Given the description of an element on the screen output the (x, y) to click on. 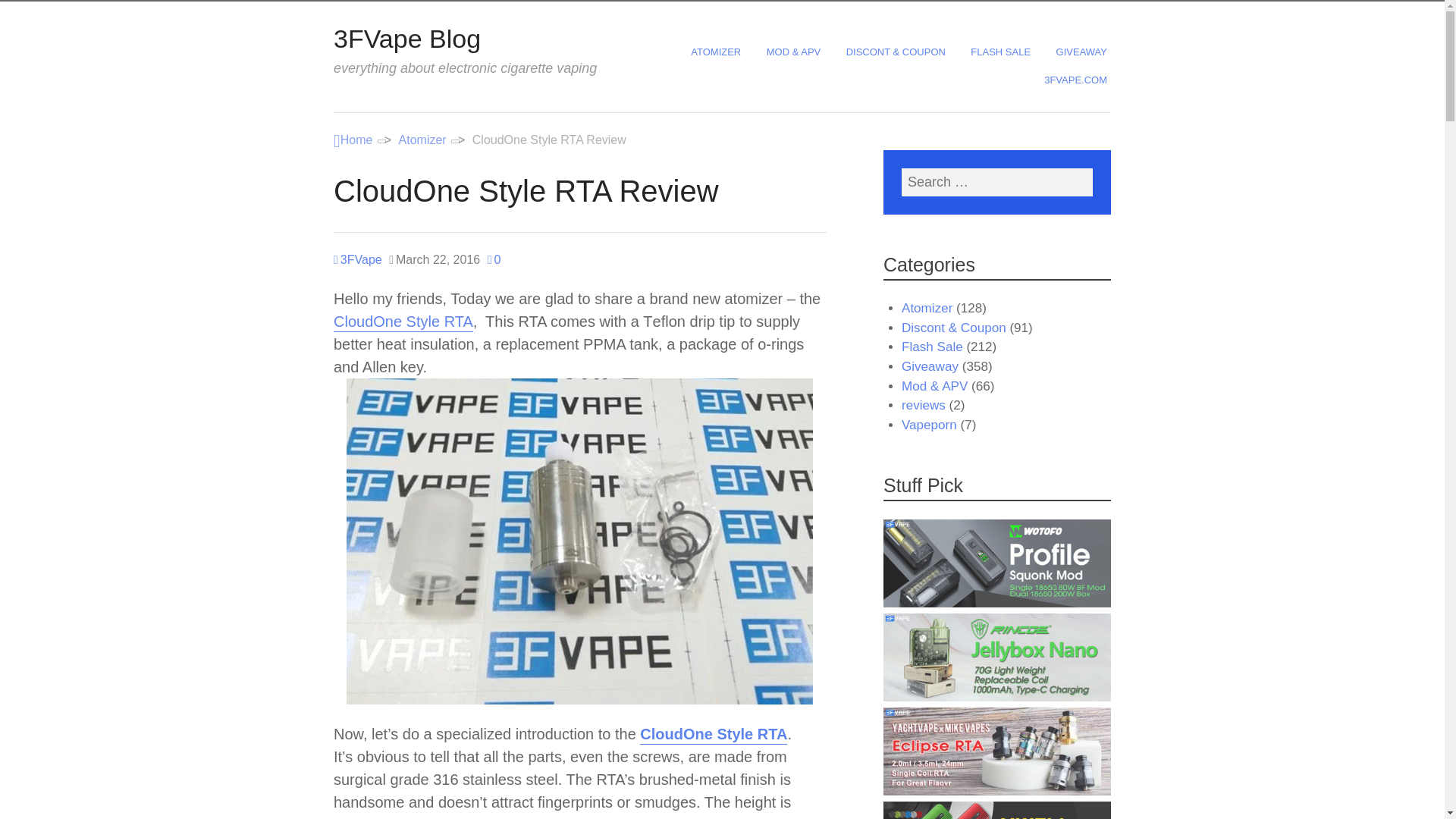
CloudOne Style RTA (713, 734)
3FVape Blog (352, 140)
Posts by 3FVape (357, 259)
3FVape (357, 259)
Tuesday, March 22, 2016, 4:32 am (434, 259)
CloudOne Style RTA (403, 322)
3FVAPE.COM (1076, 80)
Atomizer (422, 140)
ATOMIZER (717, 51)
Atomizer (422, 140)
3FVape Blog (406, 38)
GIVEAWAY (1083, 51)
FLASH SALE (1002, 51)
Home (352, 140)
